Given the description of an element on the screen output the (x, y) to click on. 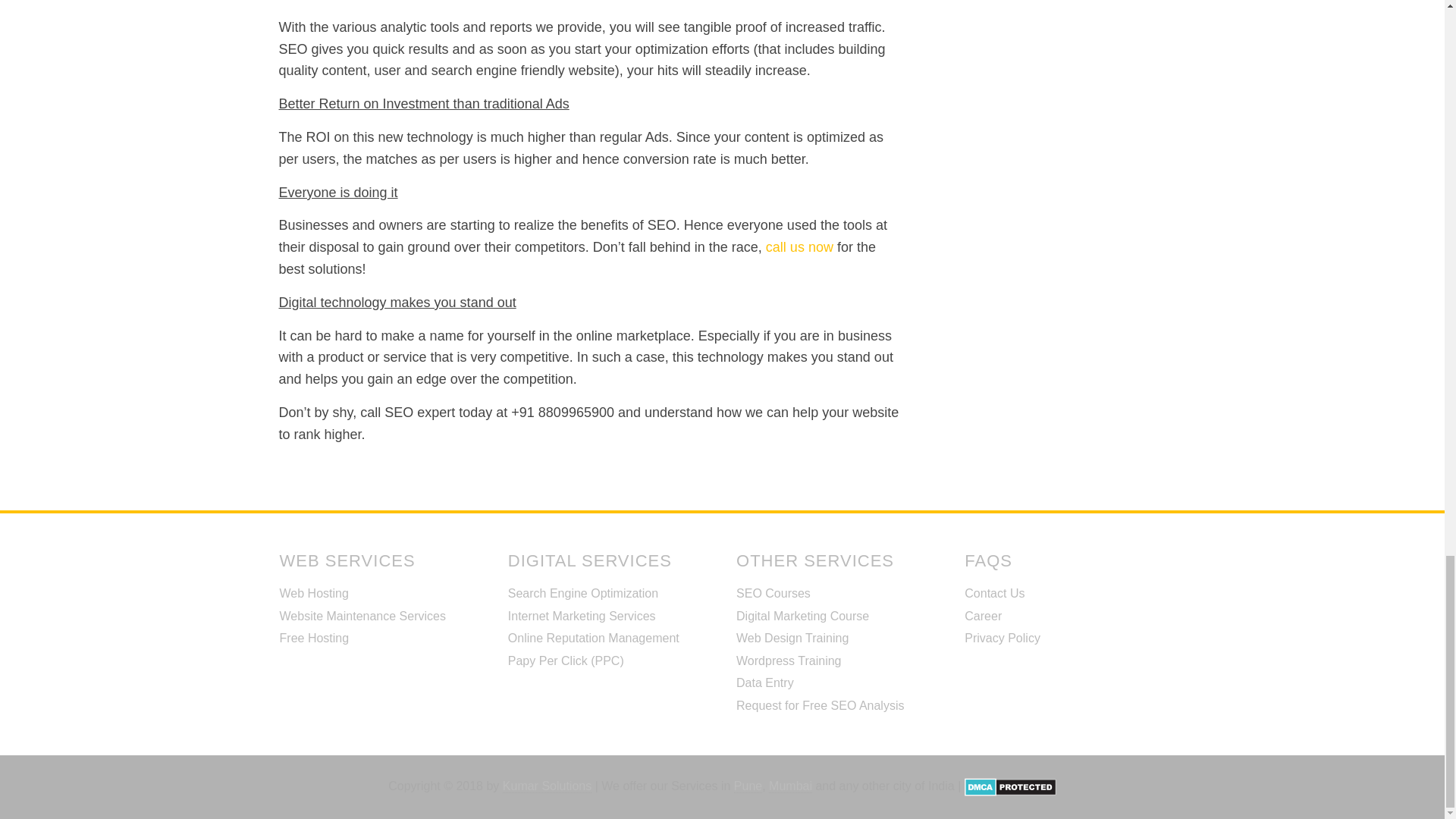
Website Maintenance Services (362, 615)
DMCA.com Protection Status (1010, 786)
Web Design Training (792, 637)
Free Hosting (314, 637)
Contact Us (994, 593)
Internet Marketing Services (582, 615)
Digital Marketing Course (802, 615)
Search Engine Optimization (583, 593)
Wordpress Training (788, 660)
Online Reputation Management (593, 637)
Data Entry (764, 682)
Request for Free SEO Analysis (820, 705)
Career (982, 615)
Web Hosting (314, 593)
call us now (798, 246)
